Given the description of an element on the screen output the (x, y) to click on. 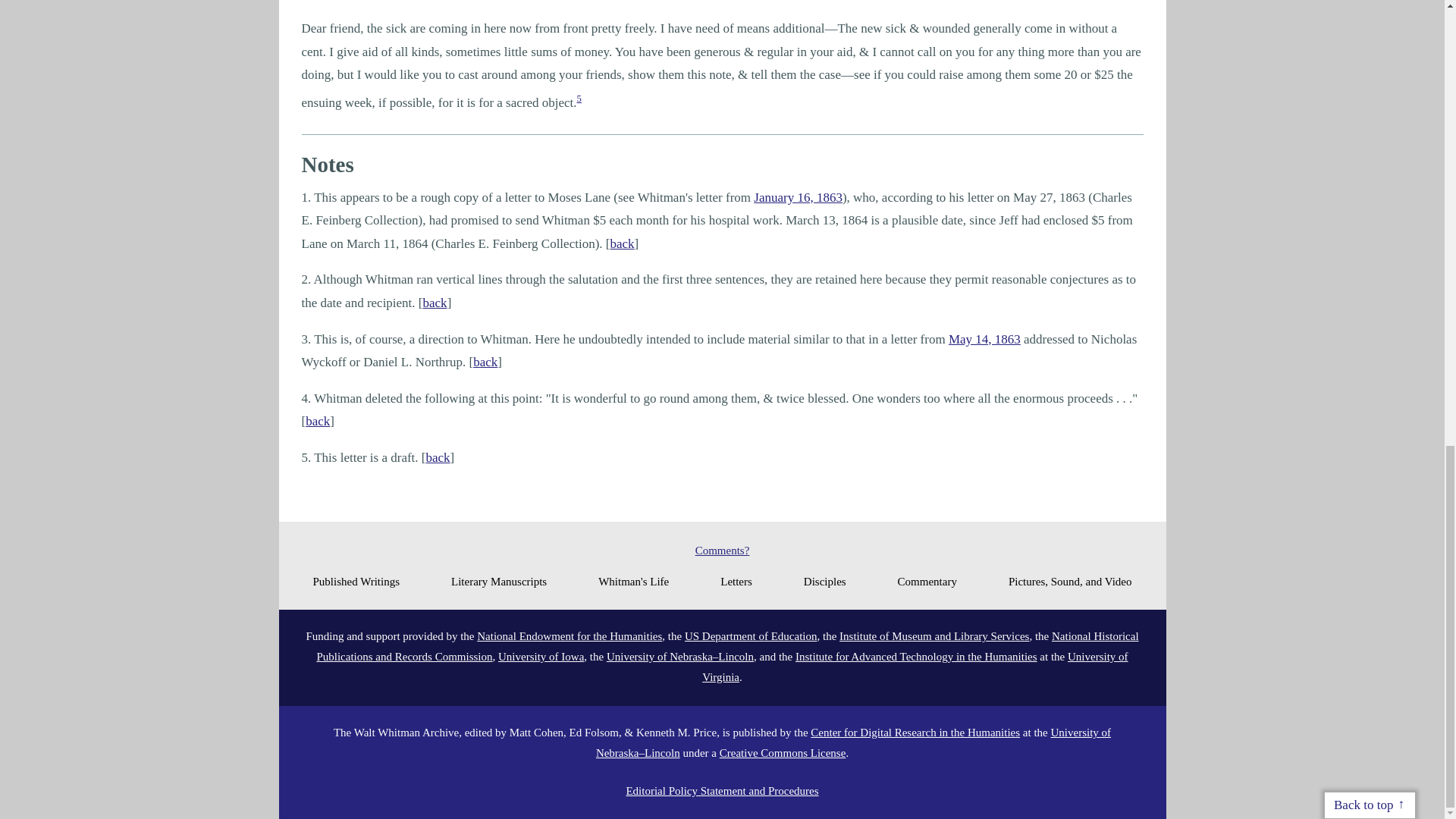
Commentary (927, 581)
back (437, 457)
Comments? (722, 550)
Disciples (824, 581)
Letters (736, 581)
Published Writings (355, 581)
back (485, 361)
back (434, 302)
back (621, 243)
Literary Manuscripts (499, 581)
